Given the description of an element on the screen output the (x, y) to click on. 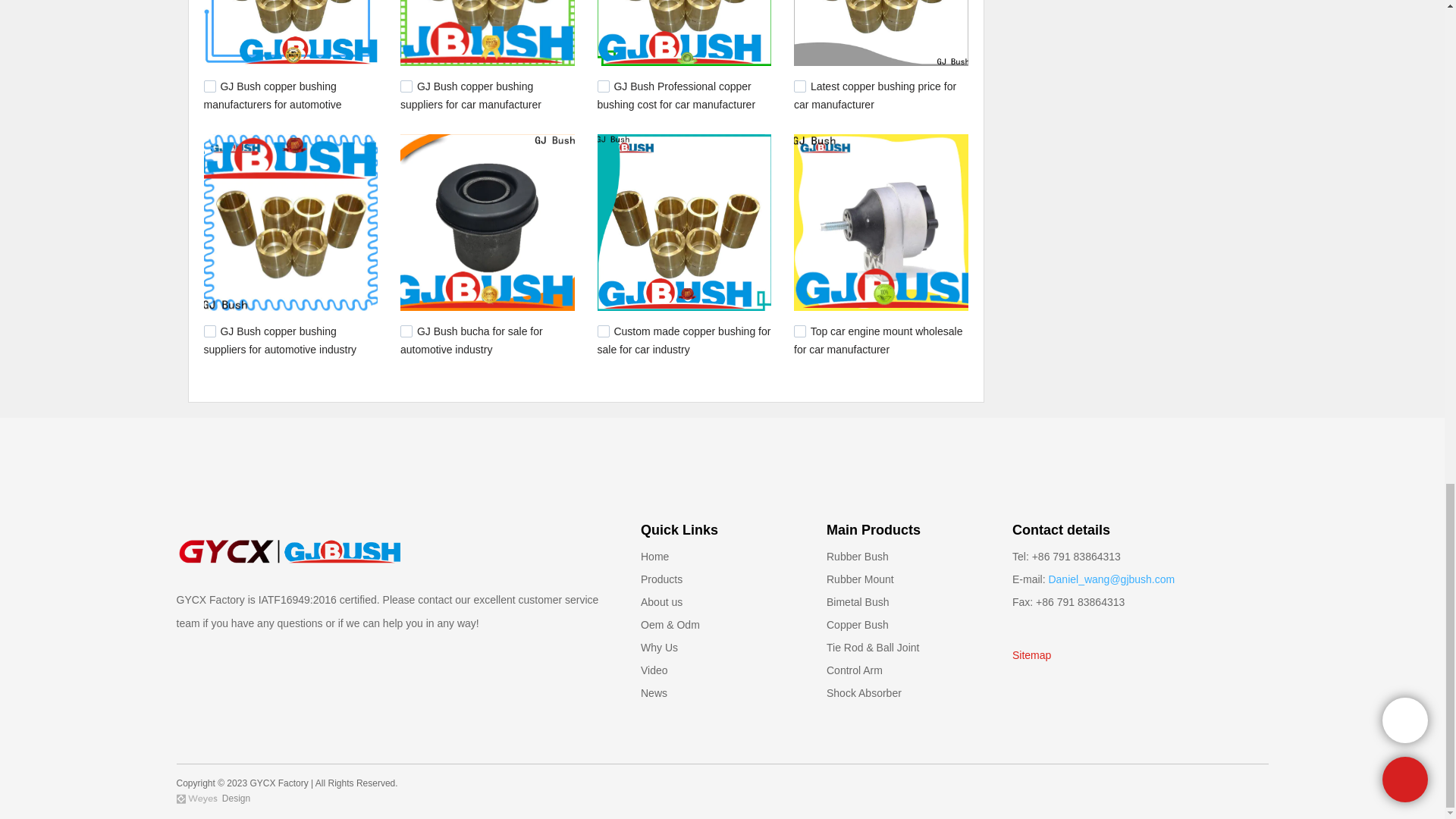
2674 (799, 86)
GJ Bush copper bushing manufacturers for automotive industry (271, 103)
2572 (209, 331)
Custom made copper bushing for sale for car industry (683, 340)
2918 (209, 86)
GJ Bush copper bushing suppliers for car manufacturer (470, 95)
2814 (406, 86)
903 (406, 331)
Latest copper bushing price for car manufacturer (874, 95)
GJ Bush bucha for sale for automotive industry (471, 340)
Top car engine mount wholesale for car manufacturer (877, 340)
2780 (603, 86)
799 (799, 331)
834 (603, 331)
